Given the description of an element on the screen output the (x, y) to click on. 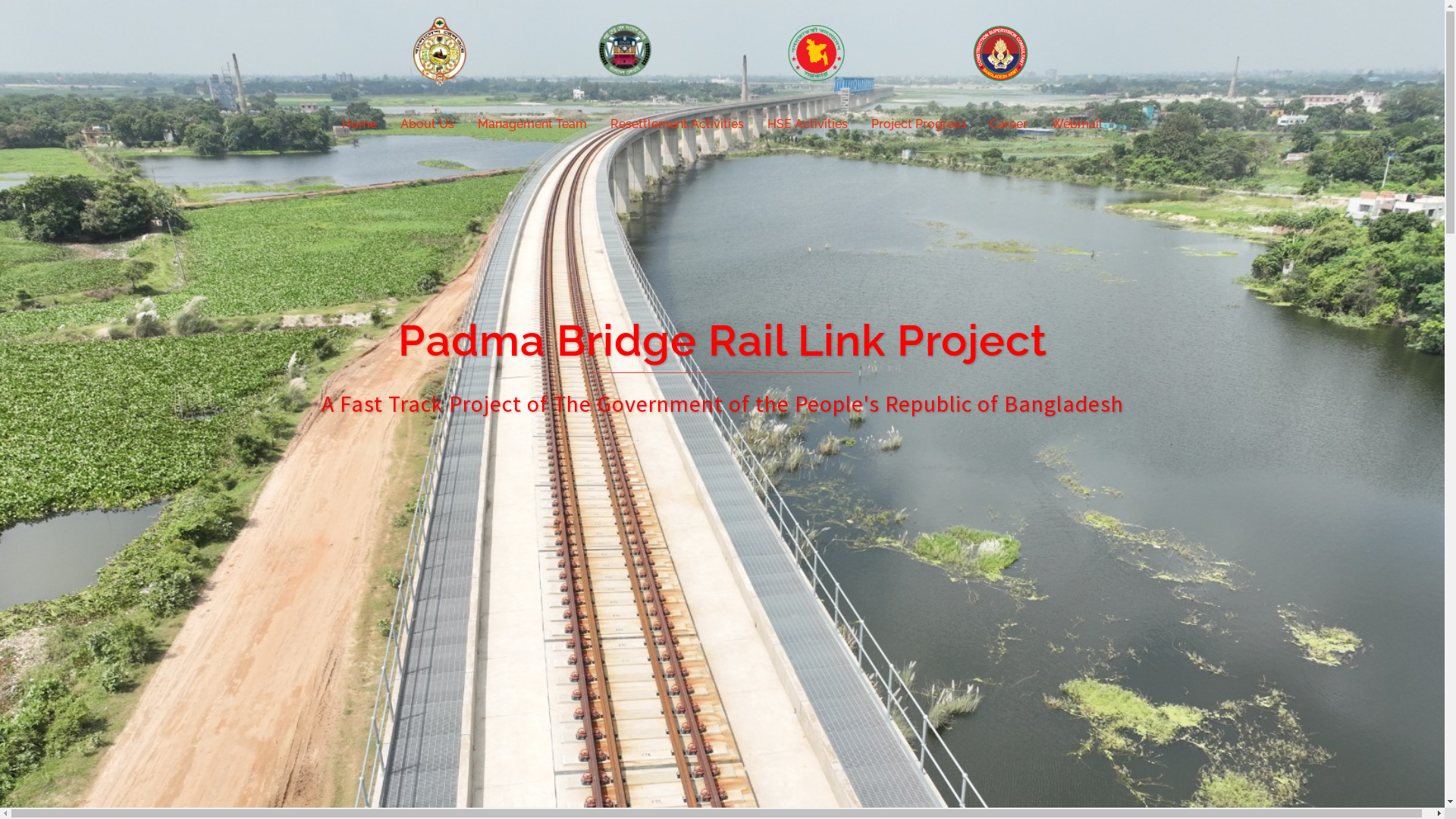
Career Element type: text (1008, 123)
Management Team Element type: text (531, 123)
Webmail Element type: text (1076, 123)
HSE Activities Element type: text (807, 123)
About Us Element type: text (427, 123)
Home Element type: text (359, 123)
Padma Bridge Rail Link Project Element type: hover (722, 56)
Resettlement Activities Element type: text (676, 123)
Project Progress Element type: text (918, 123)
